Given the description of an element on the screen output the (x, y) to click on. 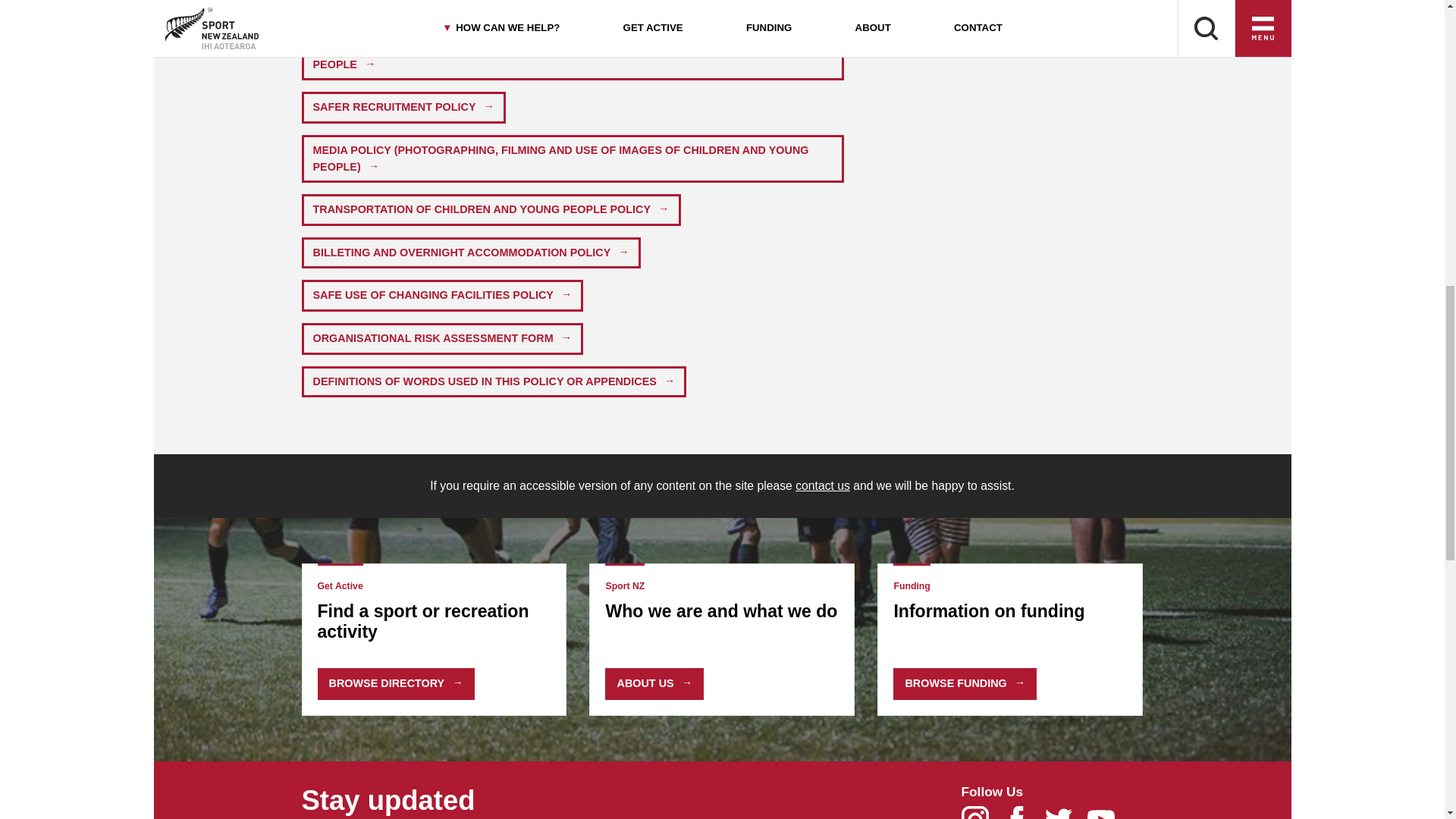
Media Policy (572, 158)
Safer Recruitment Policy (403, 107)
Instagram (981, 818)
Information sharing and confidentiality policy (472, 11)
Safe use of Changing Facilities Policy (442, 296)
Privacy policy (724, 11)
Billeting and Overnight Accommodation Policy (470, 253)
Twitter (1065, 818)
Facebook (1024, 818)
Organisational Risk Assessment Form (442, 338)
Transportation of Children and Young People Policy (491, 210)
